Given the description of an element on the screen output the (x, y) to click on. 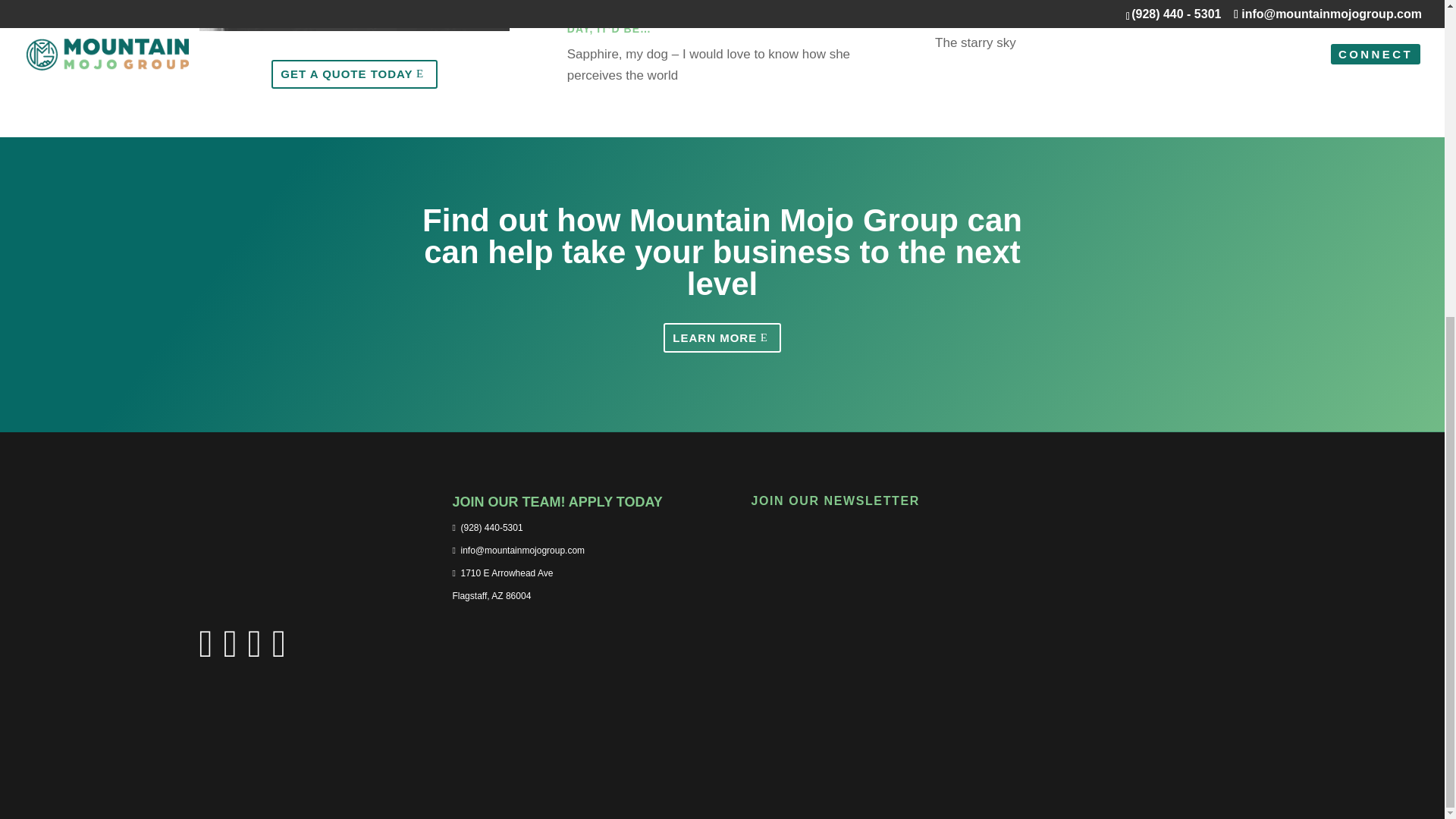
LEARN MORE (721, 337)
JOIN OUR TEAM! APPLY TODAY (565, 513)
GET A QUOTE TODAY (354, 74)
